Given the description of an element on the screen output the (x, y) to click on. 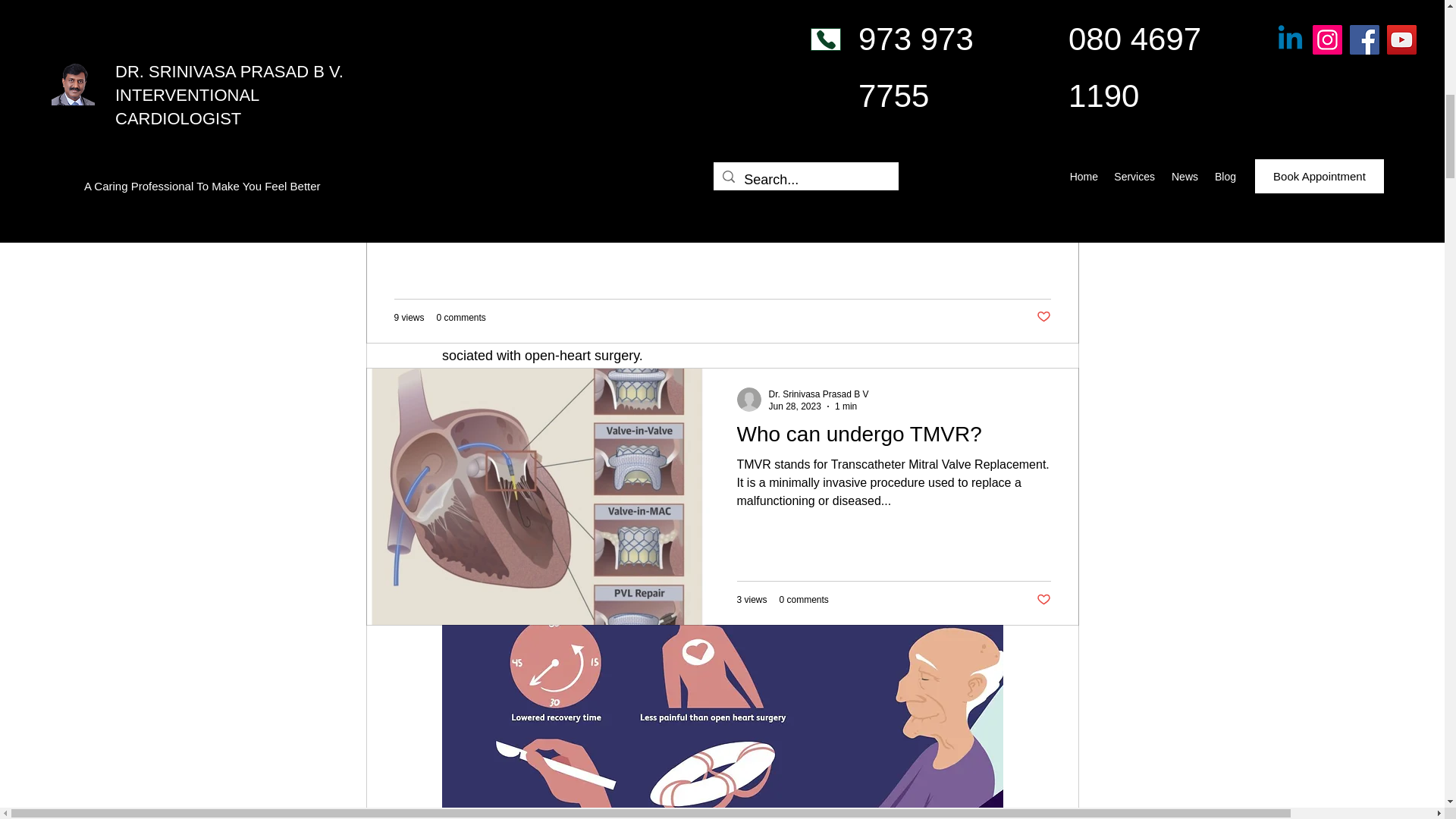
Jun 28, 2023 (794, 406)
Jul 20, 2023 (451, 123)
0 comments (461, 317)
Post not marked as liked (1042, 317)
0 comments (808, 34)
Dr. Srinivasa Prasad B V (475, 111)
Dr. Srinivasa Prasad B V (818, 394)
Who can undergo TMVR? (893, 438)
3 min (500, 123)
1 min (845, 406)
